Given the description of an element on the screen output the (x, y) to click on. 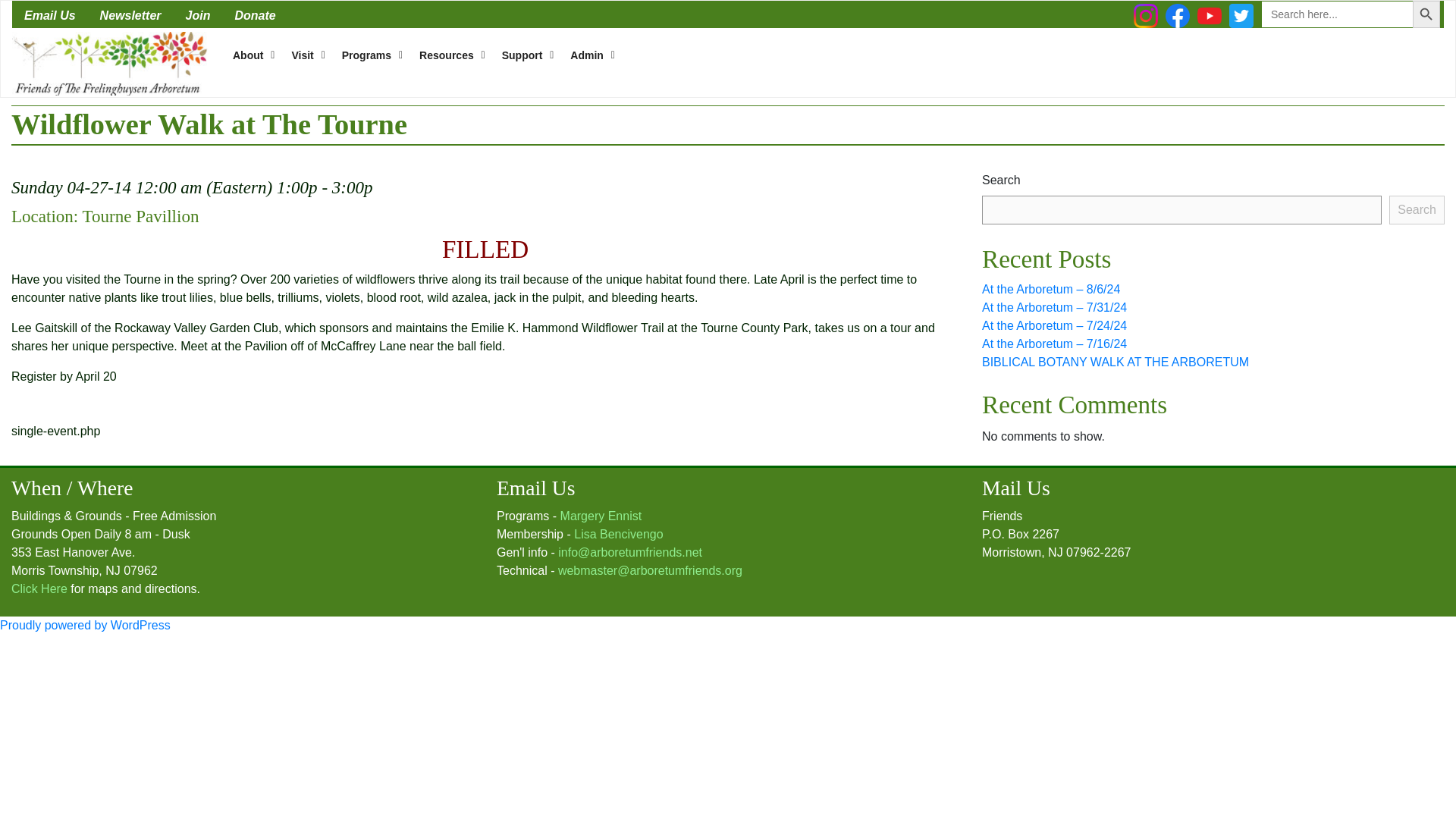
Programs (368, 54)
Newsletter (130, 13)
Visit (304, 54)
Visit (304, 54)
Donate (254, 13)
About (250, 54)
Resources (448, 54)
Support (524, 54)
About (250, 54)
Join (197, 13)
